Given the description of an element on the screen output the (x, y) to click on. 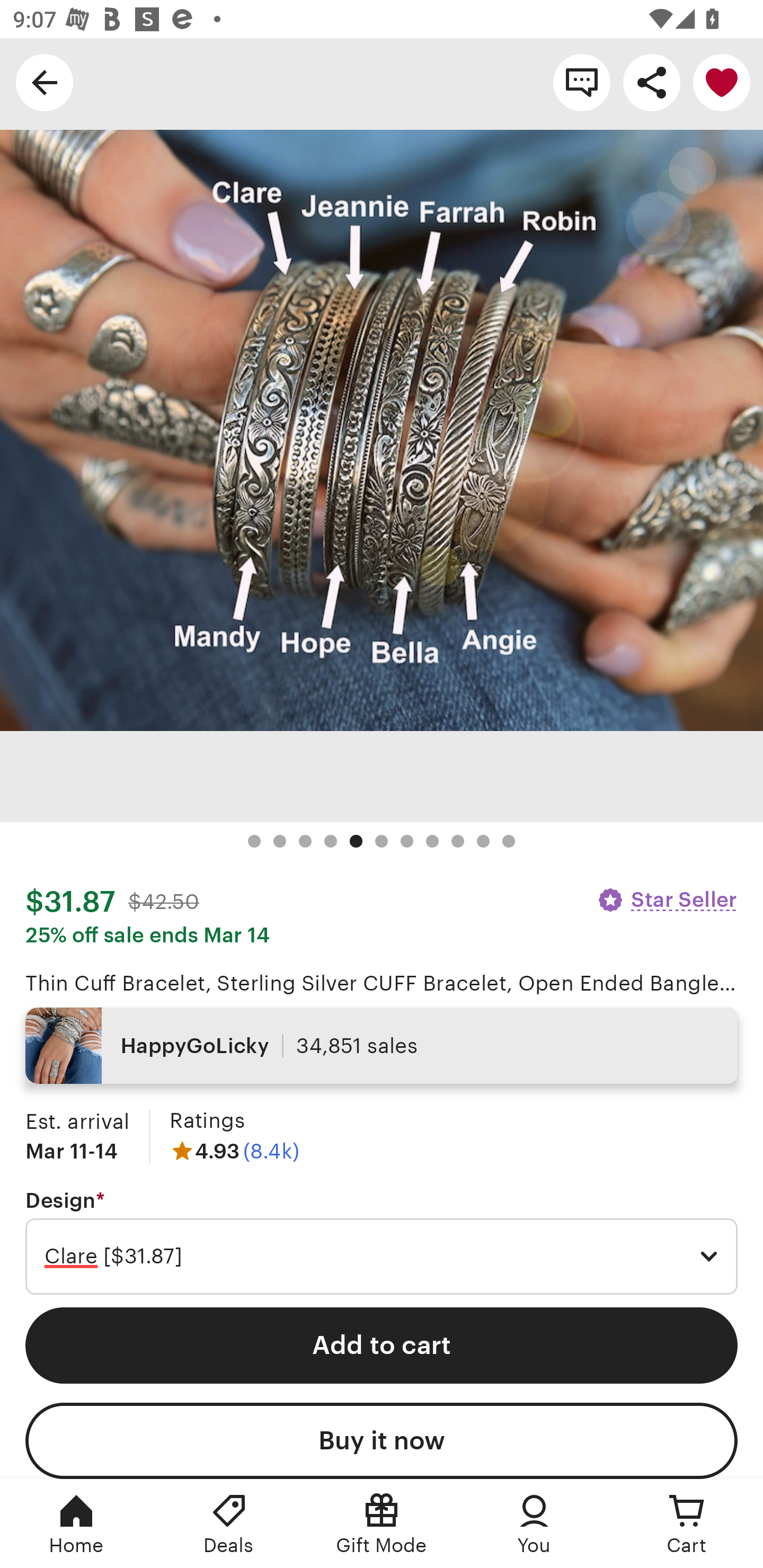
Navigate up (44, 81)
Contact shop (581, 81)
Share (651, 81)
Star Seller (666, 899)
HappyGoLicky 34,851 sales (381, 1045)
Ratings (206, 1120)
4.93 (8.4k) (234, 1150)
Design * Required Clare [$31.87] (381, 1241)
Clare [$31.87] (381, 1256)
Add to cart (381, 1344)
Buy it now (381, 1440)
Deals (228, 1523)
Gift Mode (381, 1523)
You (533, 1523)
Cart (686, 1523)
